Given the description of an element on the screen output the (x, y) to click on. 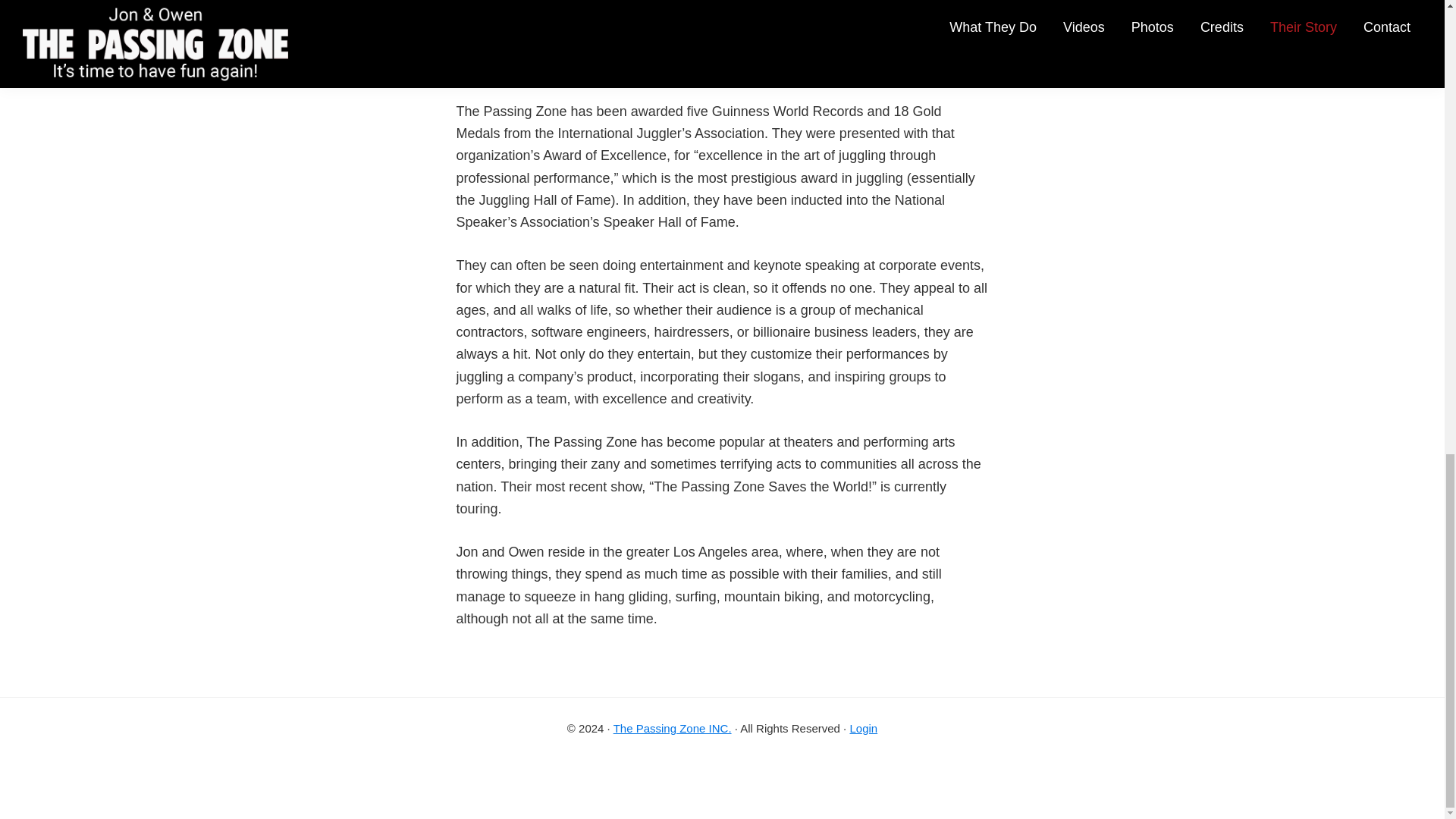
The Passing Zone INC. (672, 727)
Keynote Speaking (555, 770)
Login (862, 727)
Entertainment (702, 770)
Workshop (823, 770)
Videos (923, 770)
